Given the description of an element on the screen output the (x, y) to click on. 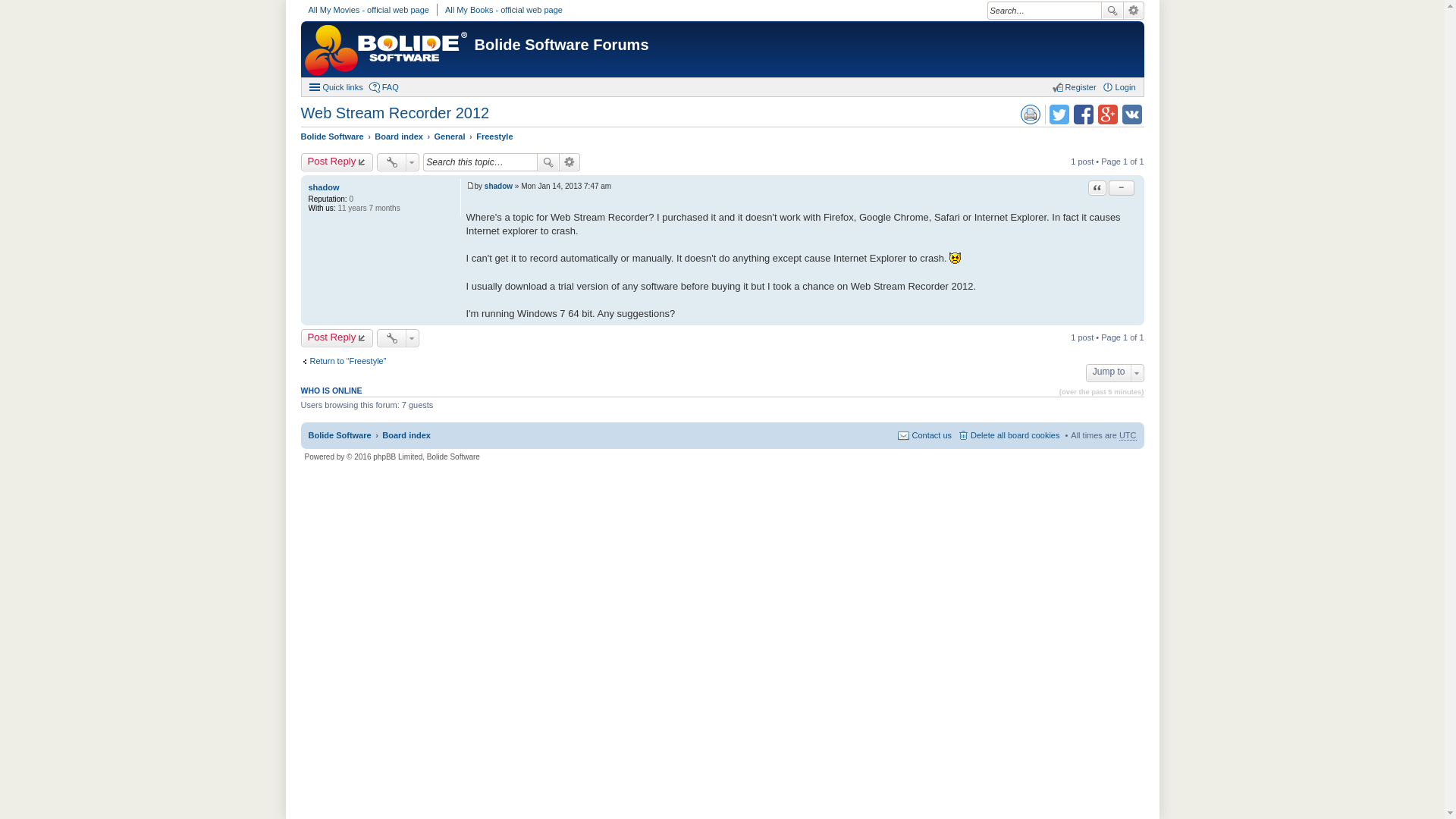
shadow (323, 186)
All My Movies - official web page (367, 9)
Print view (1030, 114)
Login (1118, 86)
Register (1073, 86)
All My Books - official web page (504, 9)
Board index (398, 136)
Bolide Software Forums (561, 44)
General (449, 136)
Web Stream Recorder 2012 (394, 112)
